Given the description of an element on the screen output the (x, y) to click on. 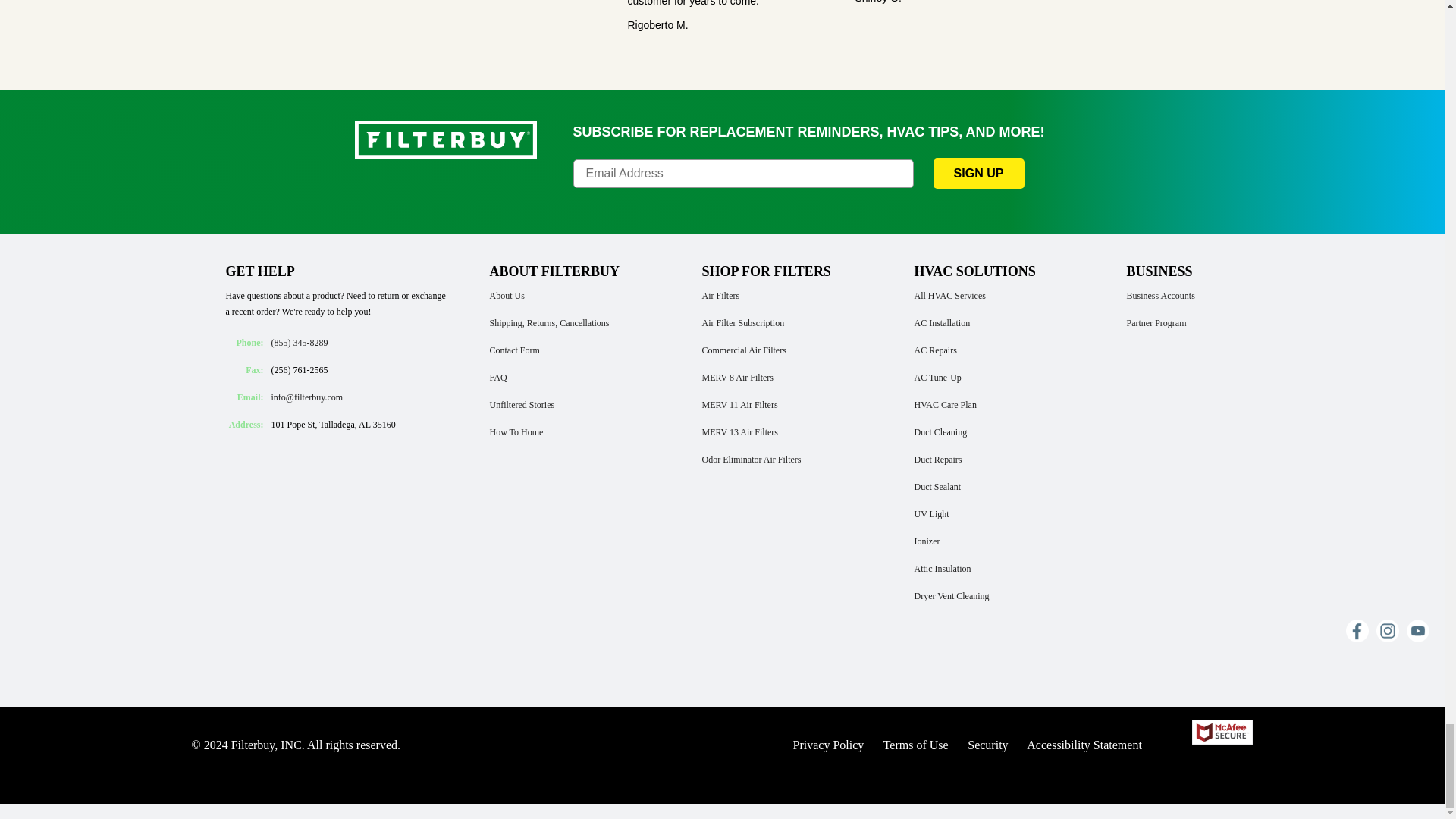
Instagram (1388, 630)
Facebook (1357, 630)
YouTube (1417, 630)
